Given the description of an element on the screen output the (x, y) to click on. 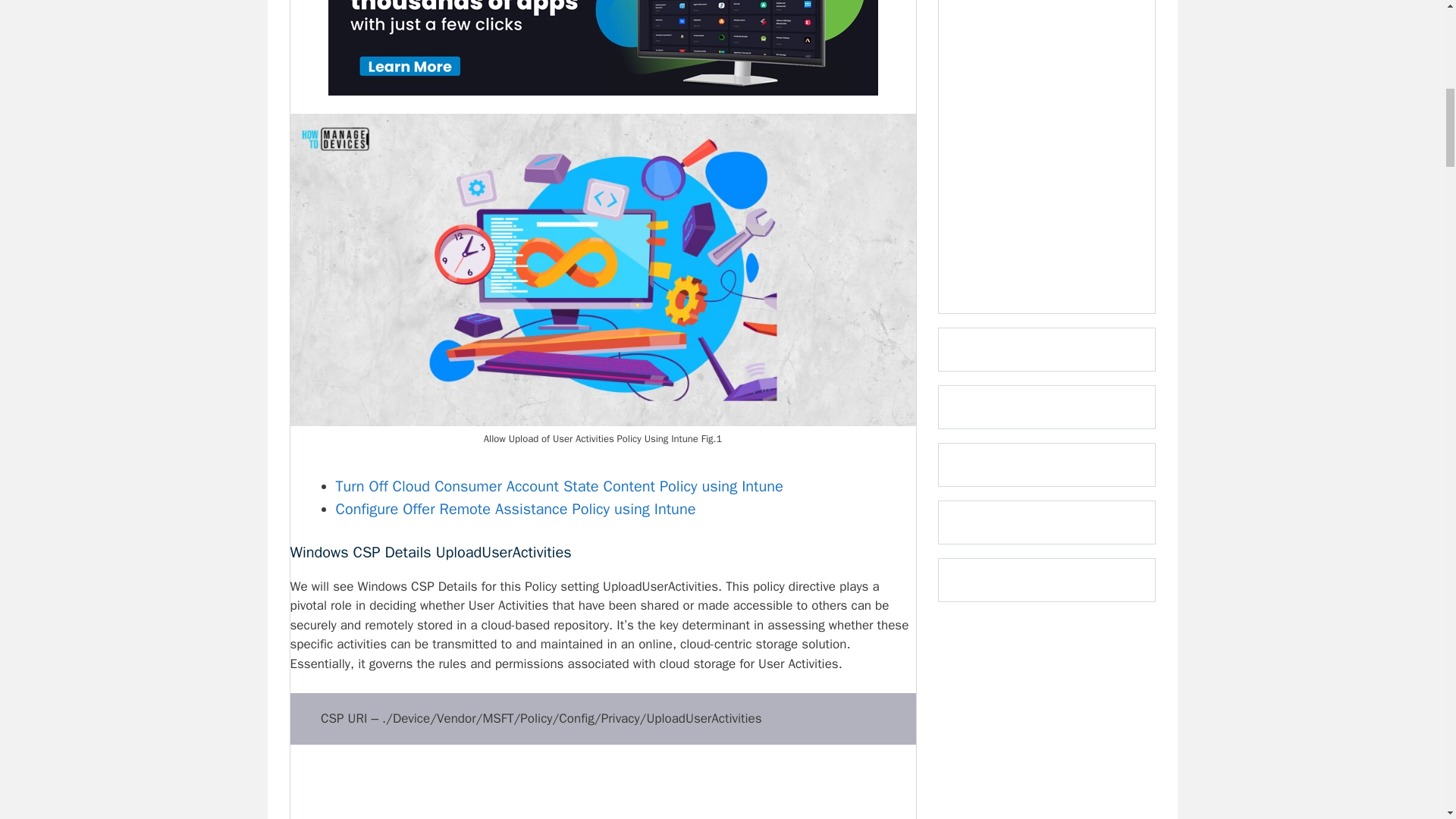
Configure Offer Remote Assistance Policy using Intune (514, 508)
Allow Upload of User Activities Policy using Intune 2 (602, 791)
